Given the description of an element on the screen output the (x, y) to click on. 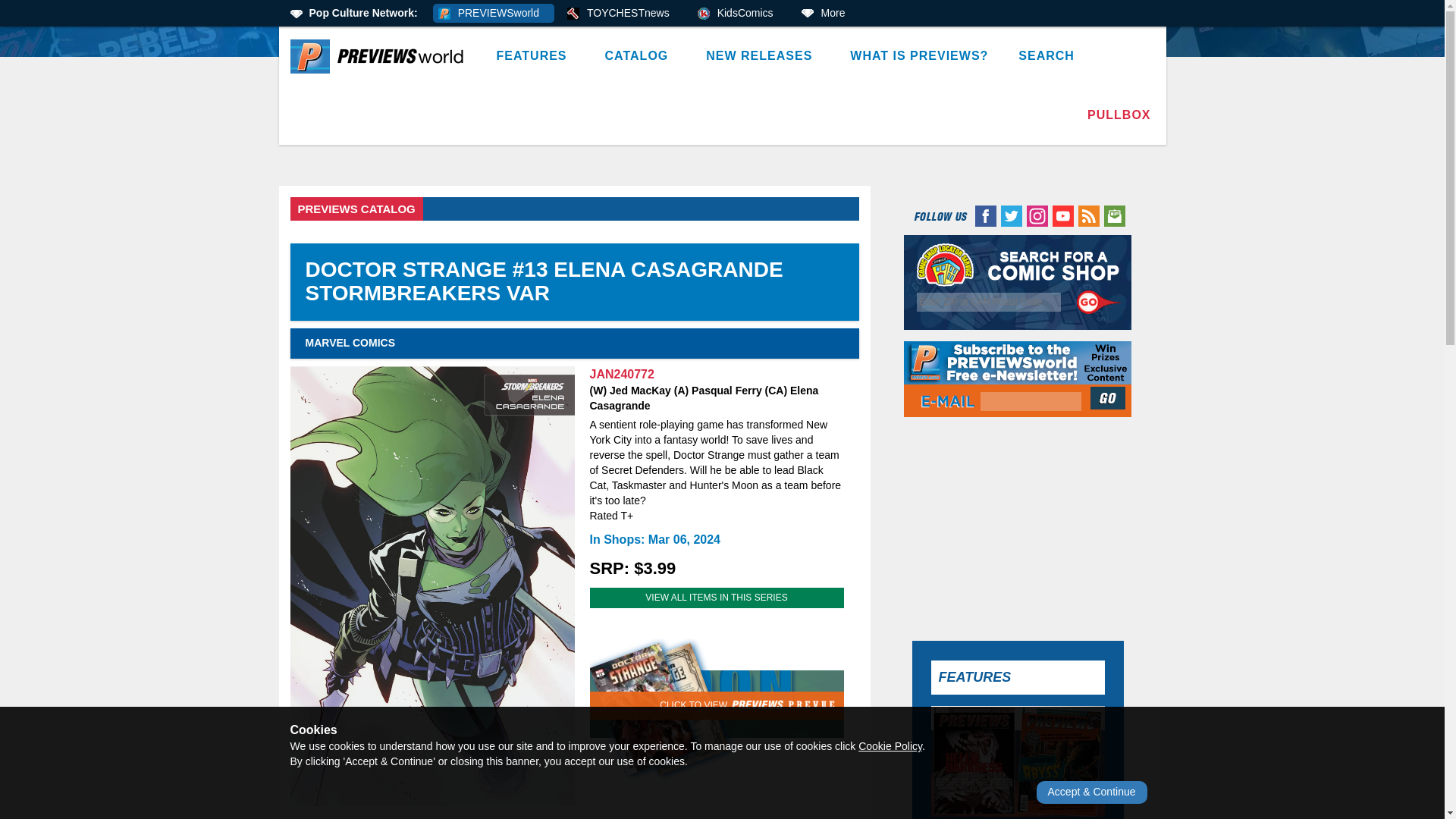
CATALOG (640, 55)
KidsComics (741, 13)
Enter ZIP or CAN Postal Code (989, 302)
Join Our NewsLetter (1109, 397)
Email Address Input for Newsletter Signup (1030, 401)
More (828, 13)
TOYCHESTnews (623, 13)
PREVIEWSworld (493, 13)
FEATURES (534, 55)
